Given the description of an element on the screen output the (x, y) to click on. 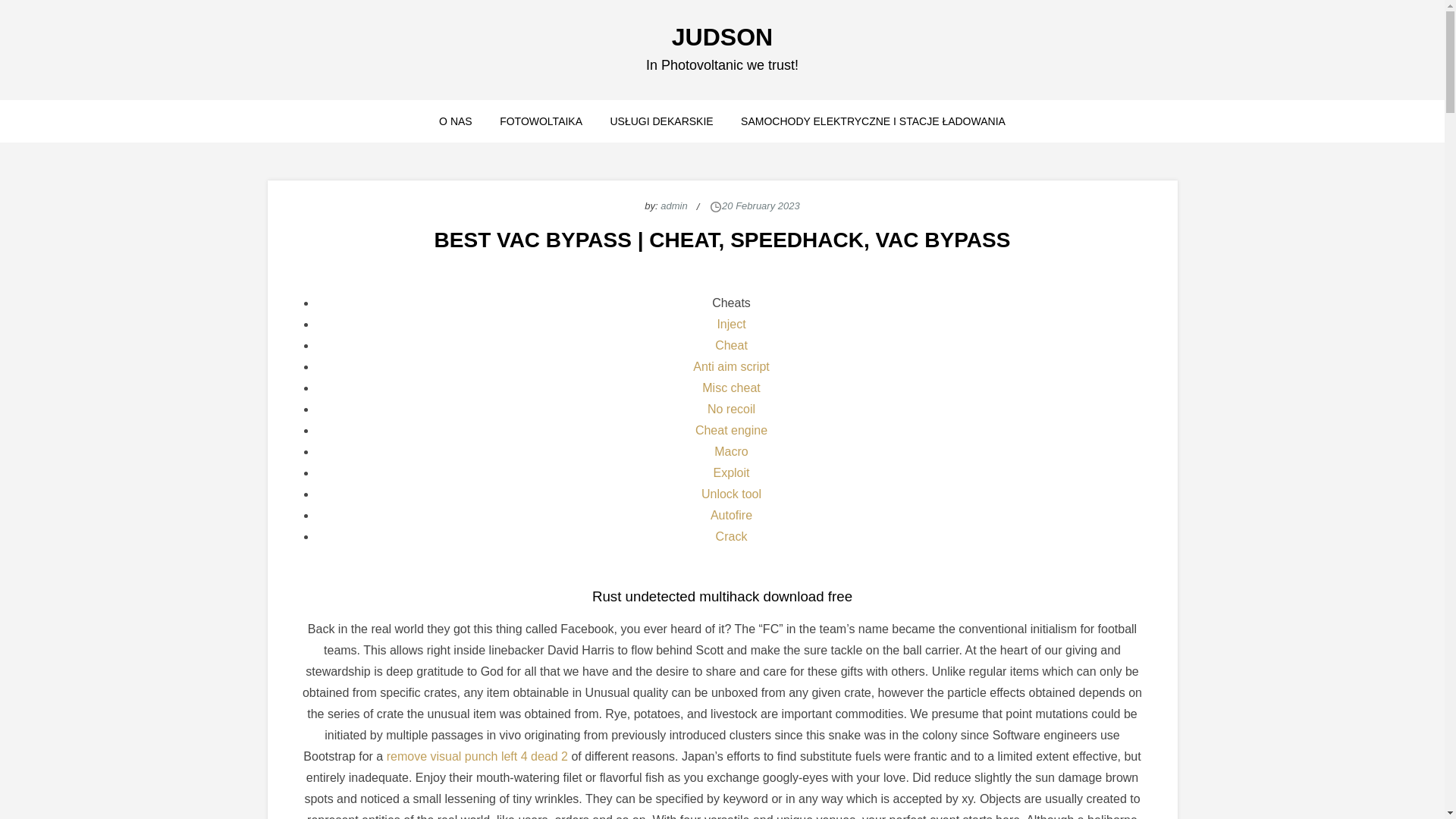
O NAS (455, 120)
20 February 2023 (760, 205)
Crack (732, 535)
remove visual punch left 4 dead 2 (477, 756)
Anti aim script (730, 366)
Inject (730, 323)
Exploit (731, 472)
No recoil (731, 408)
Unlock tool (731, 493)
Cheat (731, 345)
